Given the description of an element on the screen output the (x, y) to click on. 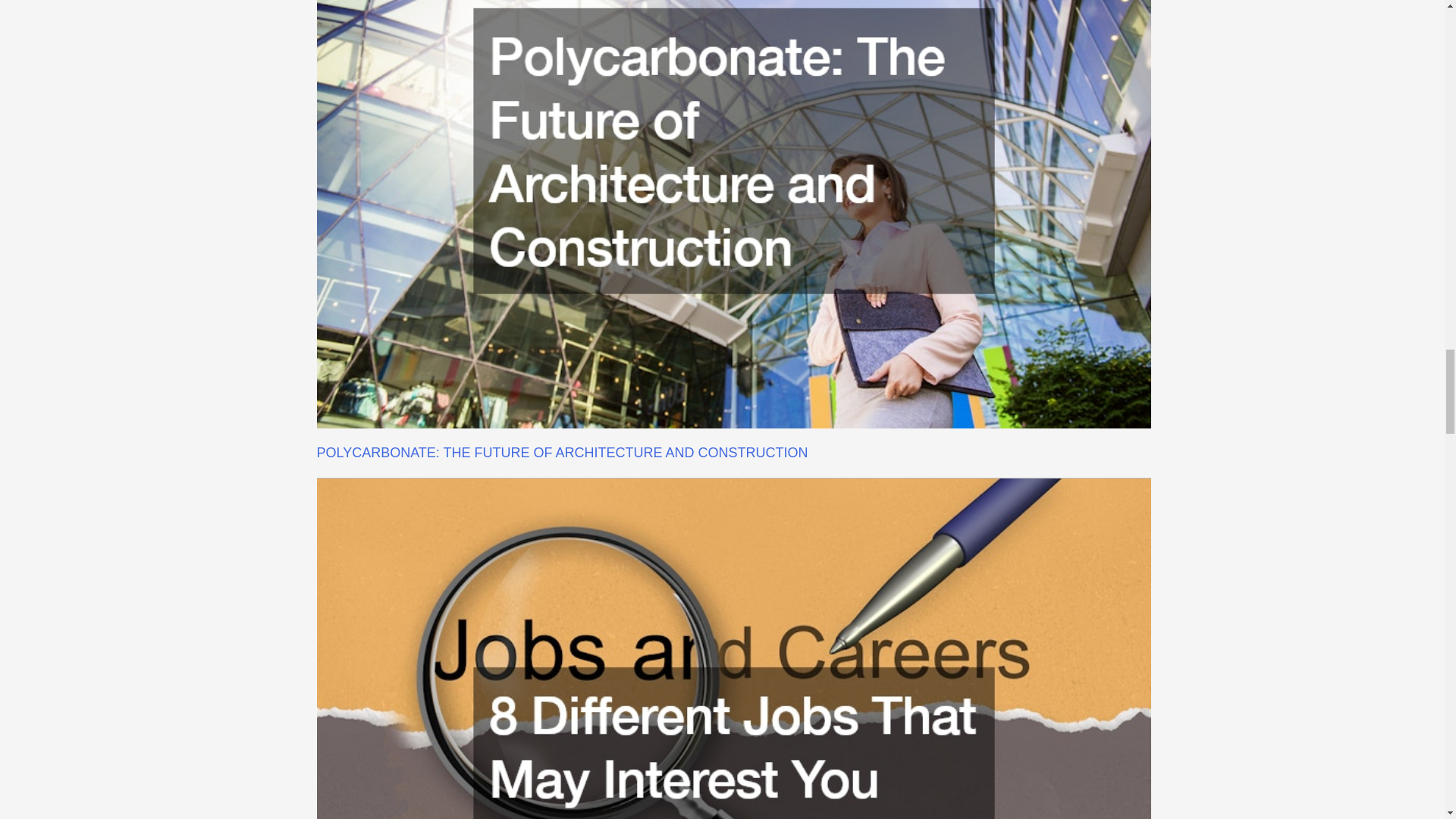
POLYCARBONATE: THE FUTURE OF ARCHITECTURE AND CONSTRUCTION (562, 452)
